Given the description of an element on the screen output the (x, y) to click on. 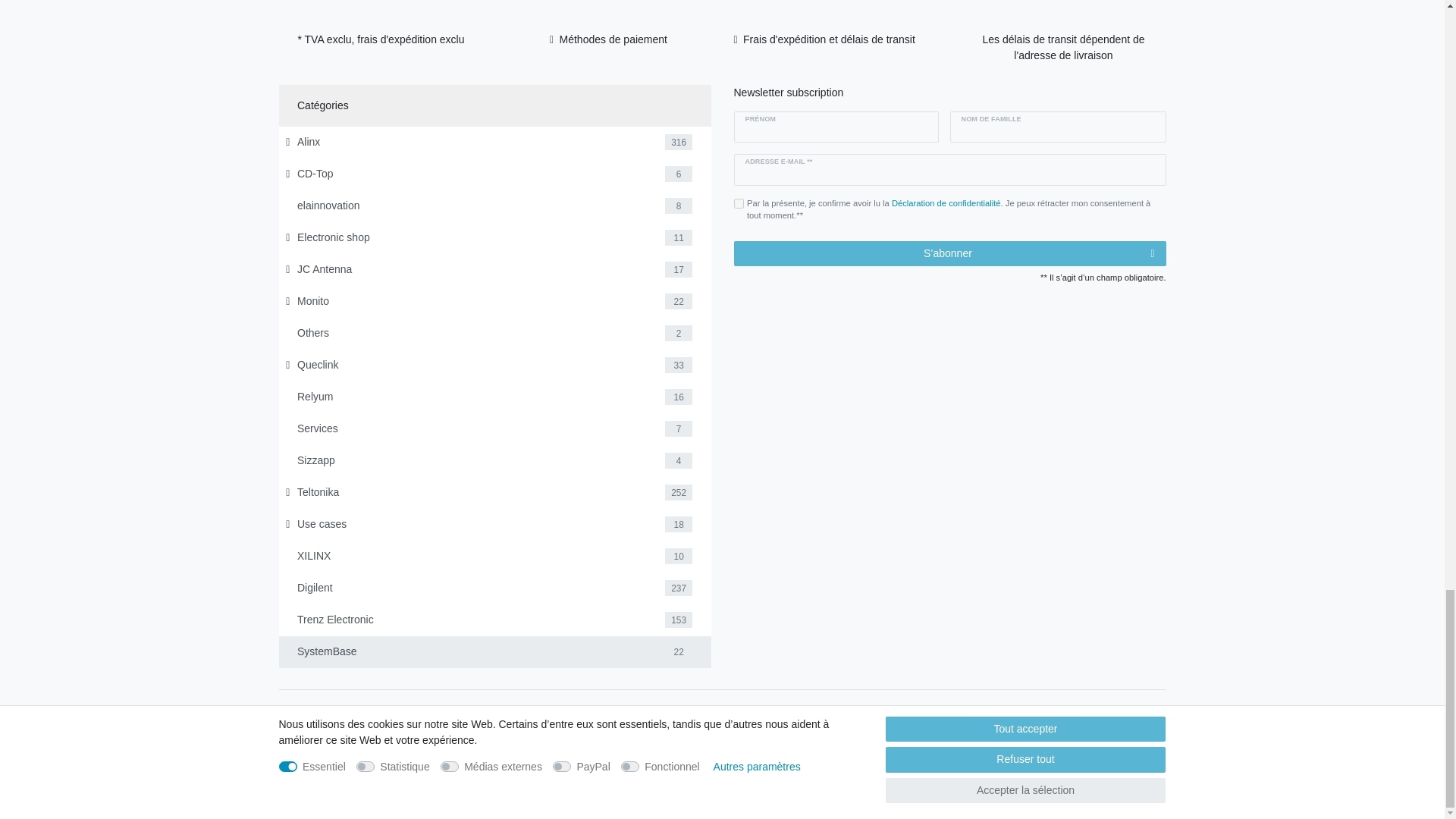
on (738, 203)
